Given the description of an element on the screen output the (x, y) to click on. 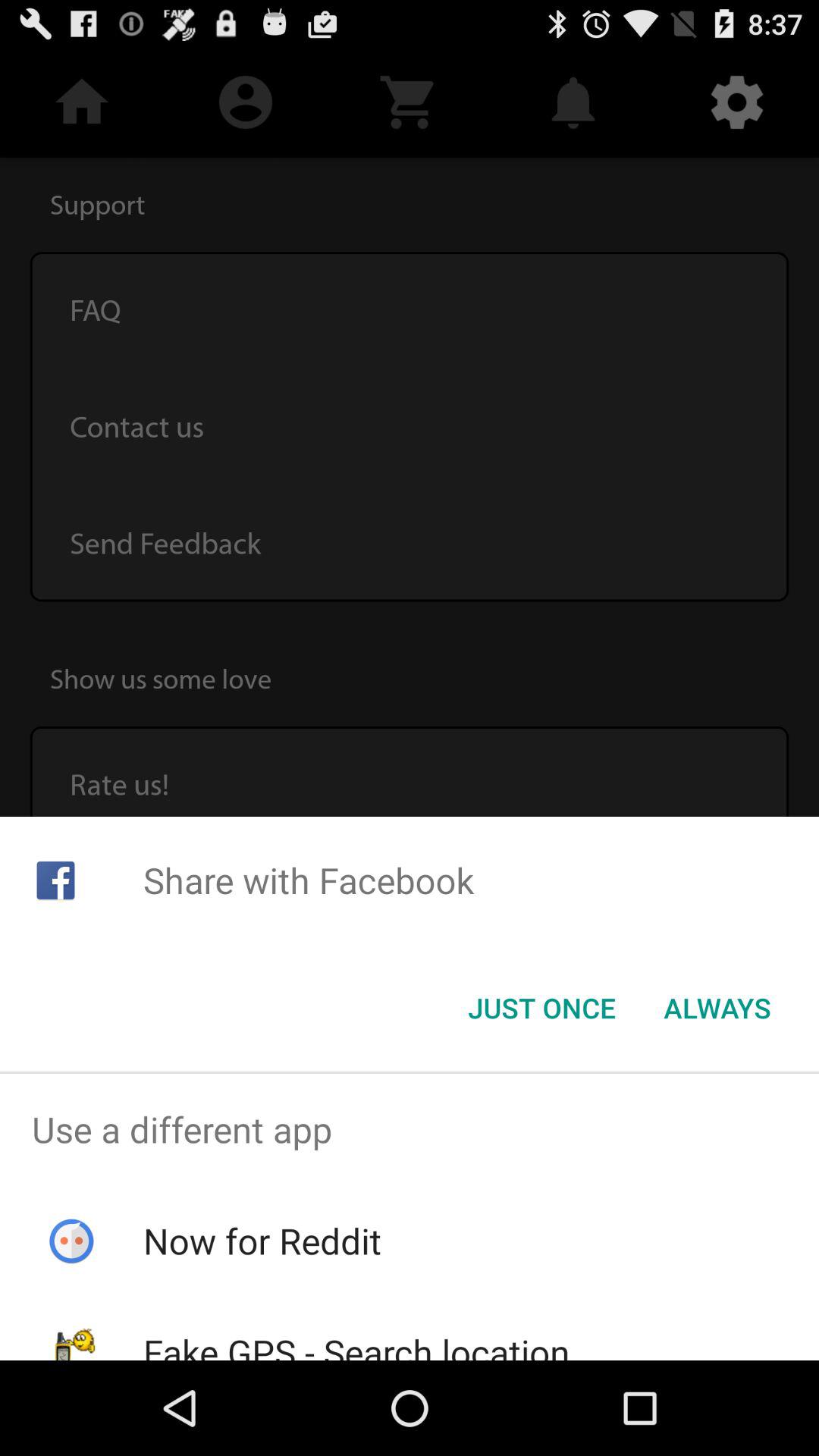
tap the button next to the always button (541, 1007)
